Given the description of an element on the screen output the (x, y) to click on. 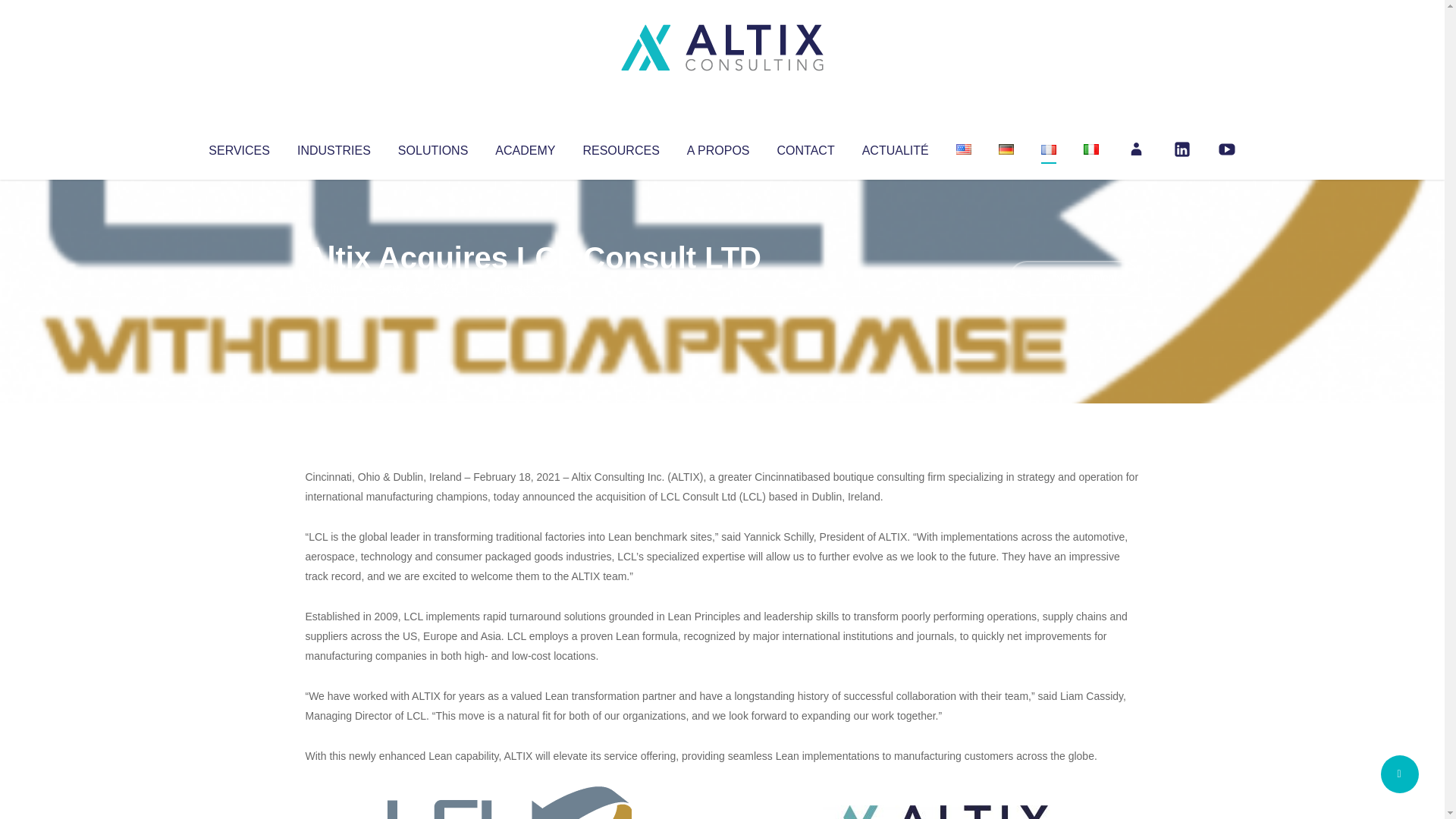
SOLUTIONS (432, 146)
Articles par Altix (333, 287)
SERVICES (238, 146)
ACADEMY (524, 146)
Uncategorized (530, 287)
A PROPOS (718, 146)
RESOURCES (620, 146)
INDUSTRIES (334, 146)
Altix (333, 287)
No Comments (1073, 278)
